Given the description of an element on the screen output the (x, y) to click on. 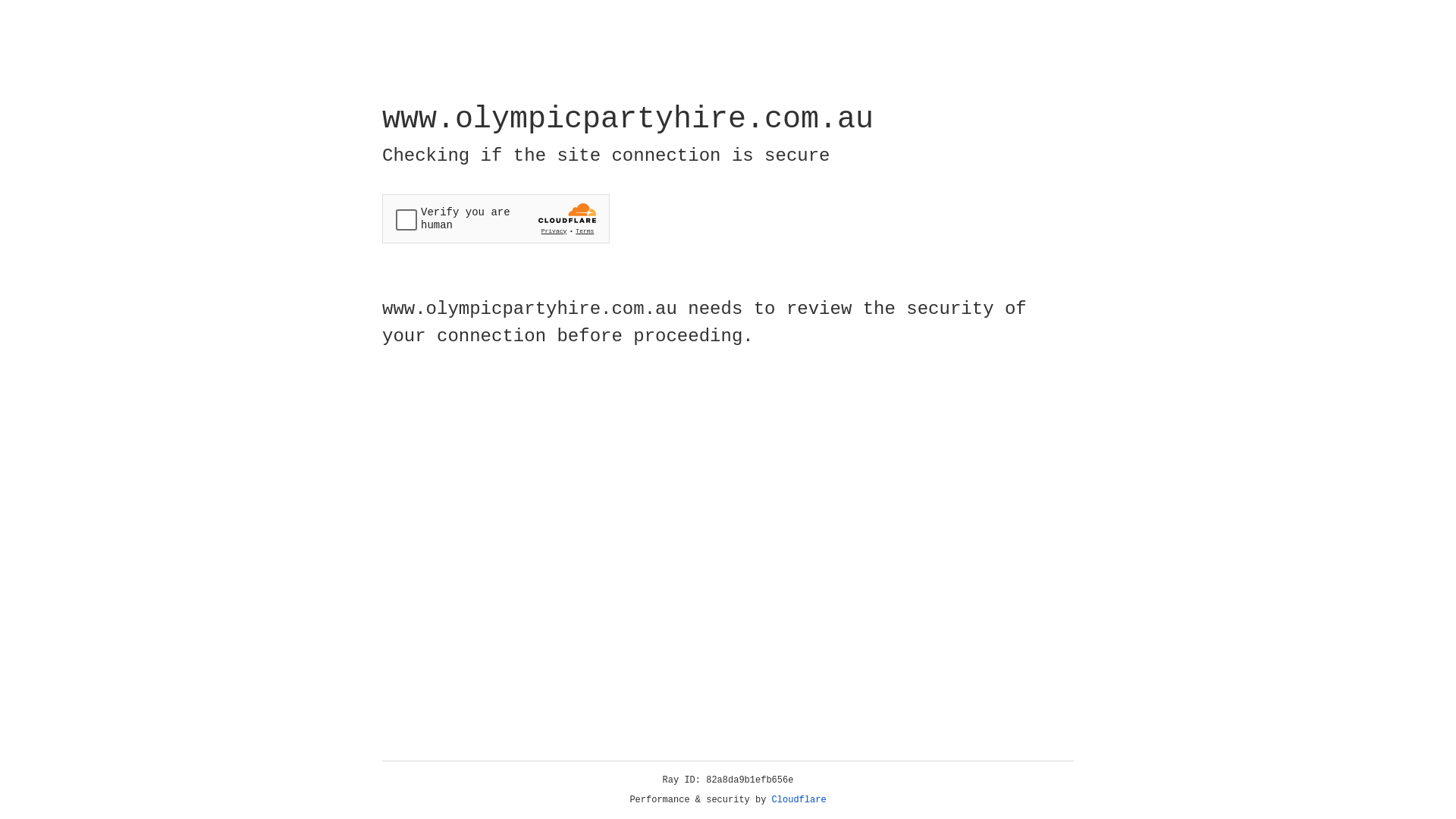
Cloudflare Element type: text (798, 799)
Widget containing a Cloudflare security challenge Element type: hover (495, 218)
